Given the description of an element on the screen output the (x, y) to click on. 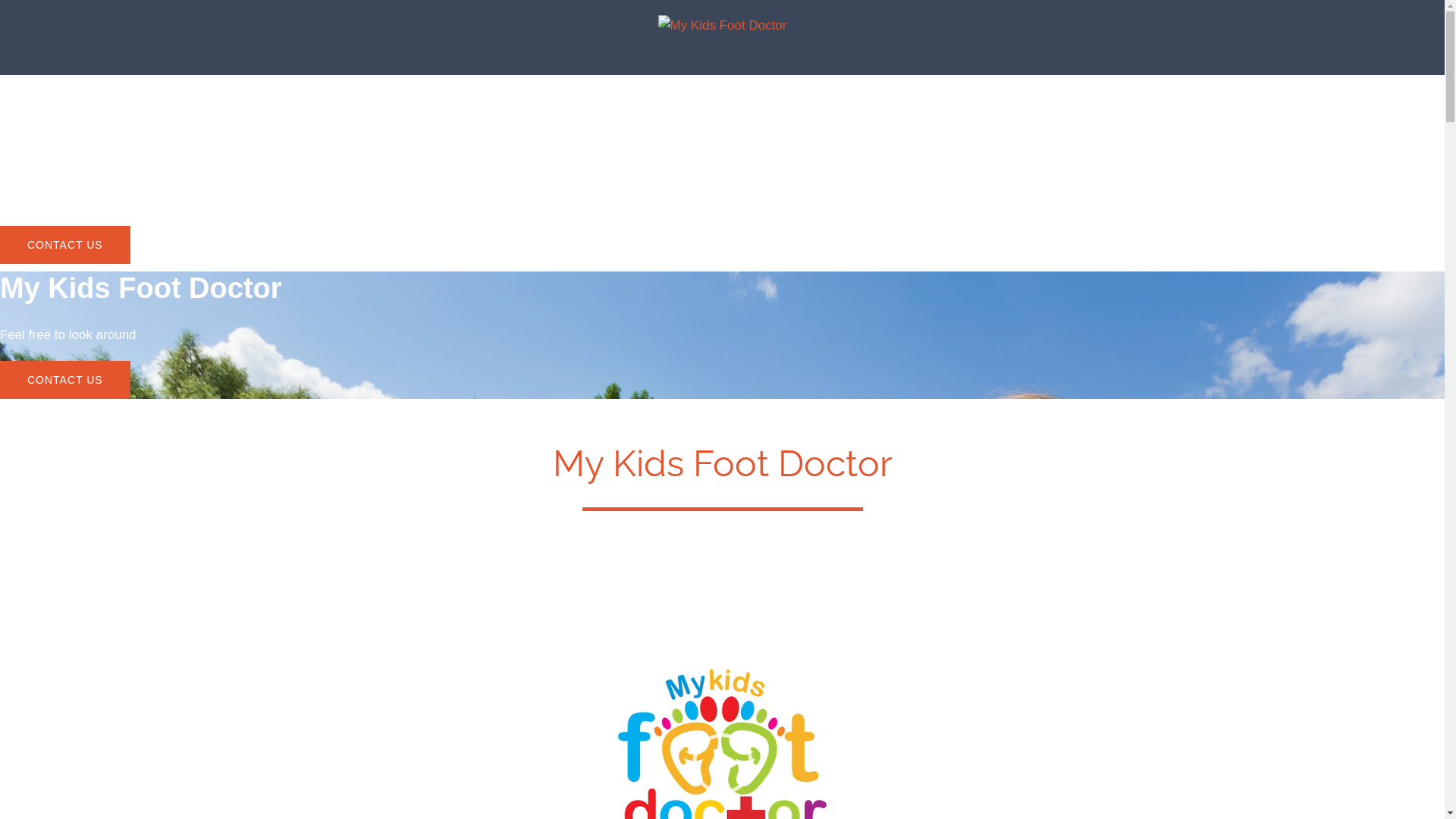
CONTACT US Element type: text (65, 244)
CONTACT US Element type: text (65, 379)
My Kids Foot Doctor Element type: hover (722, 30)
